Given the description of an element on the screen output the (x, y) to click on. 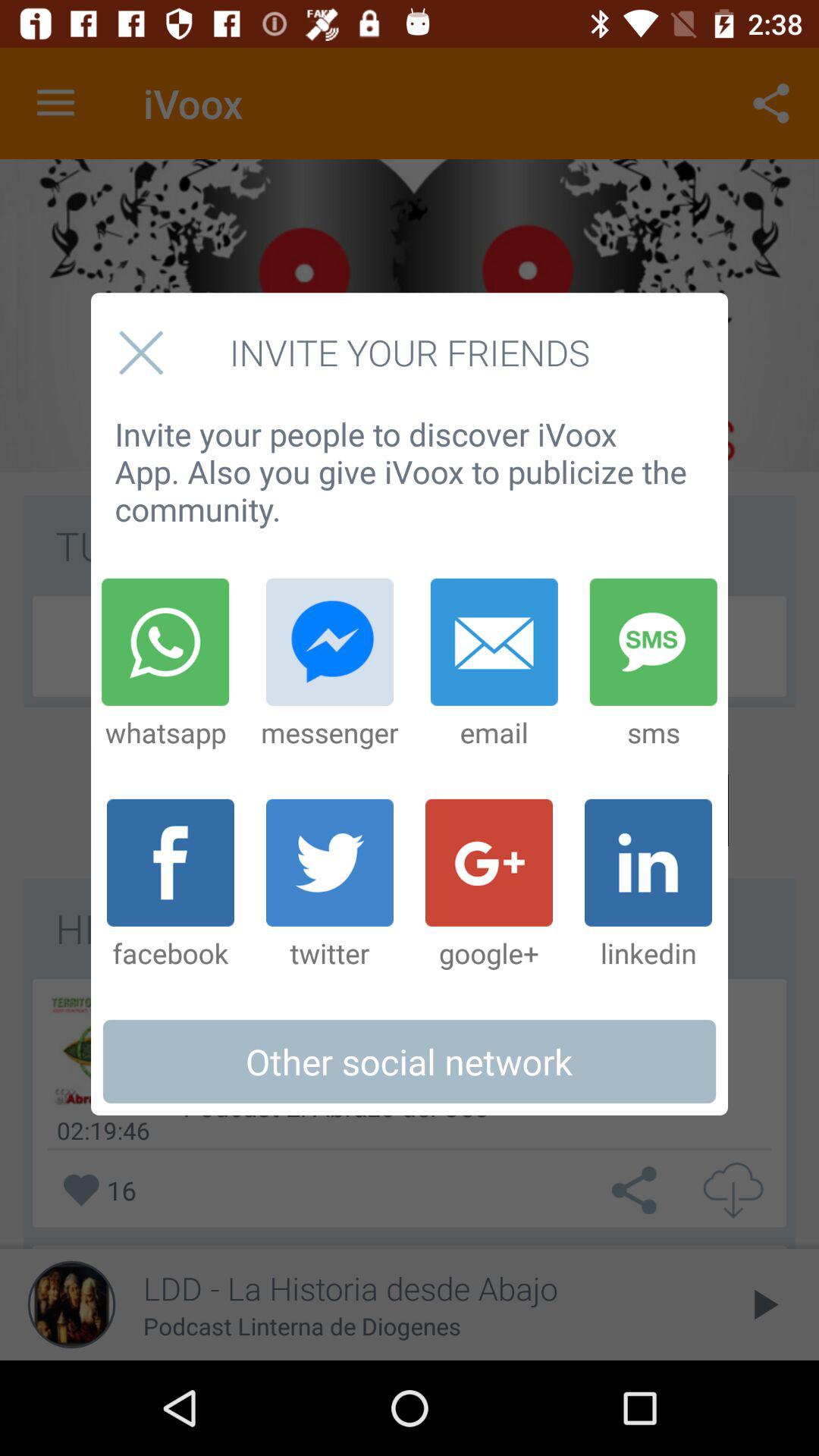
select the item to the right of messenger icon (493, 664)
